Given the description of an element on the screen output the (x, y) to click on. 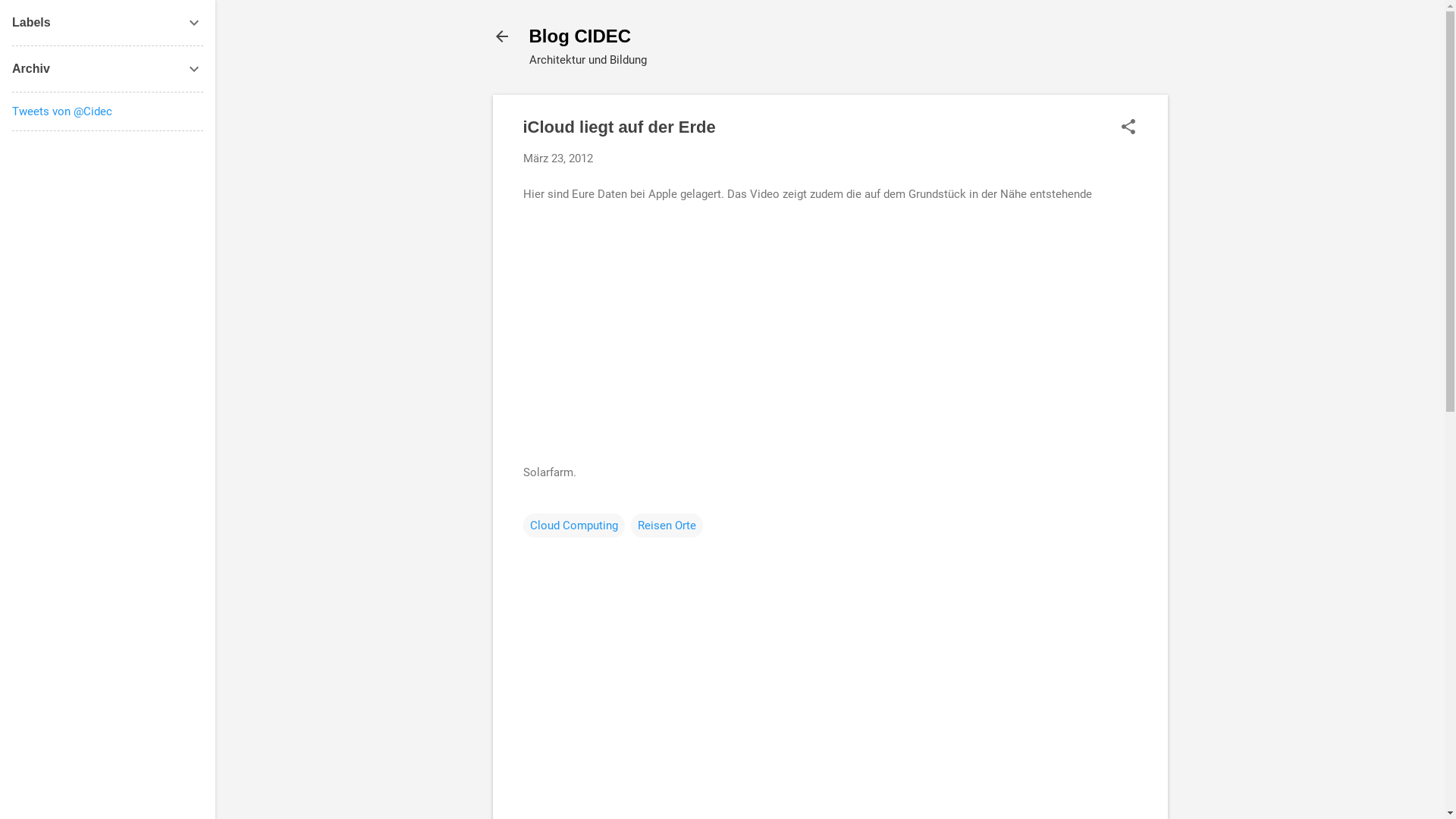
Blog CIDEC Element type: text (580, 35)
Tweets von @Cidec Element type: text (62, 111)
Cloud Computing Element type: text (573, 524)
Reisen Orte Element type: text (666, 524)
